Given the description of an element on the screen output the (x, y) to click on. 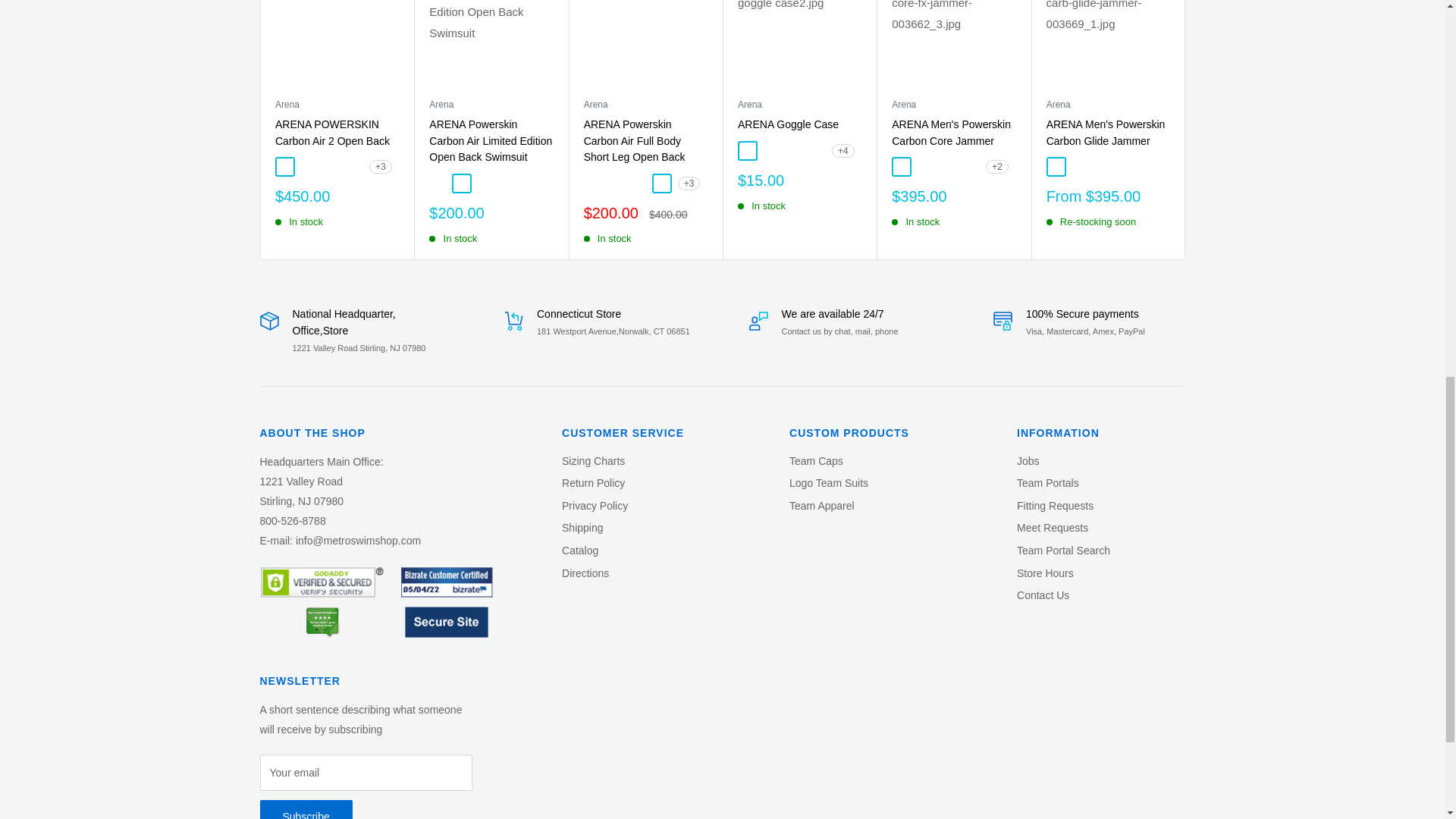
Black-Black-Gold (284, 166)
Jessica Long (352, 166)
Electric Blue-Dark Grey-Fluo Y (329, 166)
